Given the description of an element on the screen output the (x, y) to click on. 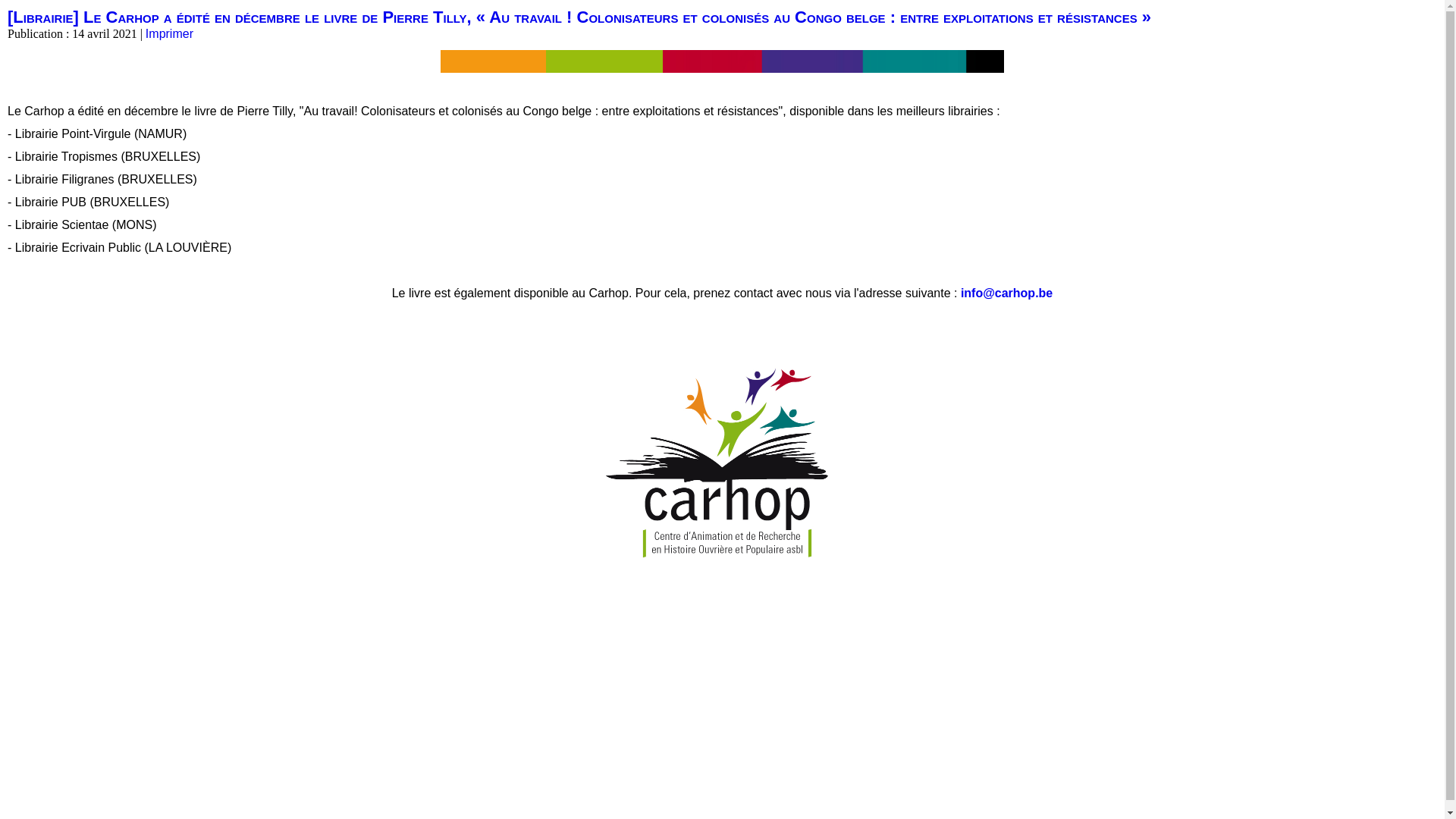
Imprimer Element type: text (169, 33)
info@carhop.be Element type: text (1006, 292)
